Given the description of an element on the screen output the (x, y) to click on. 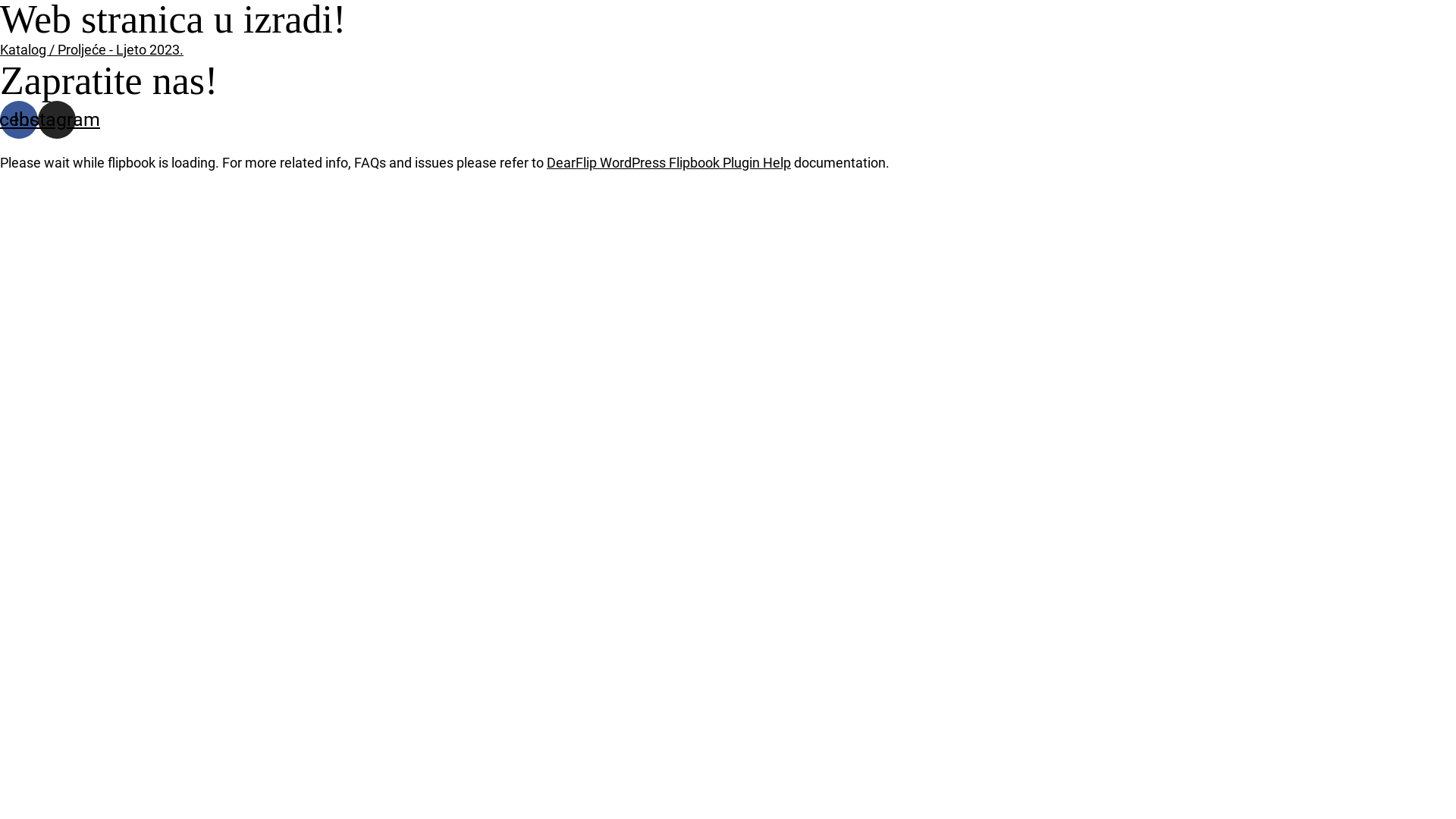
Instagram Element type: text (56, 119)
Facebook Element type: text (18, 119)
DearFlip WordPress Flipbook Plugin Help Element type: text (668, 162)
